Given the description of an element on the screen output the (x, y) to click on. 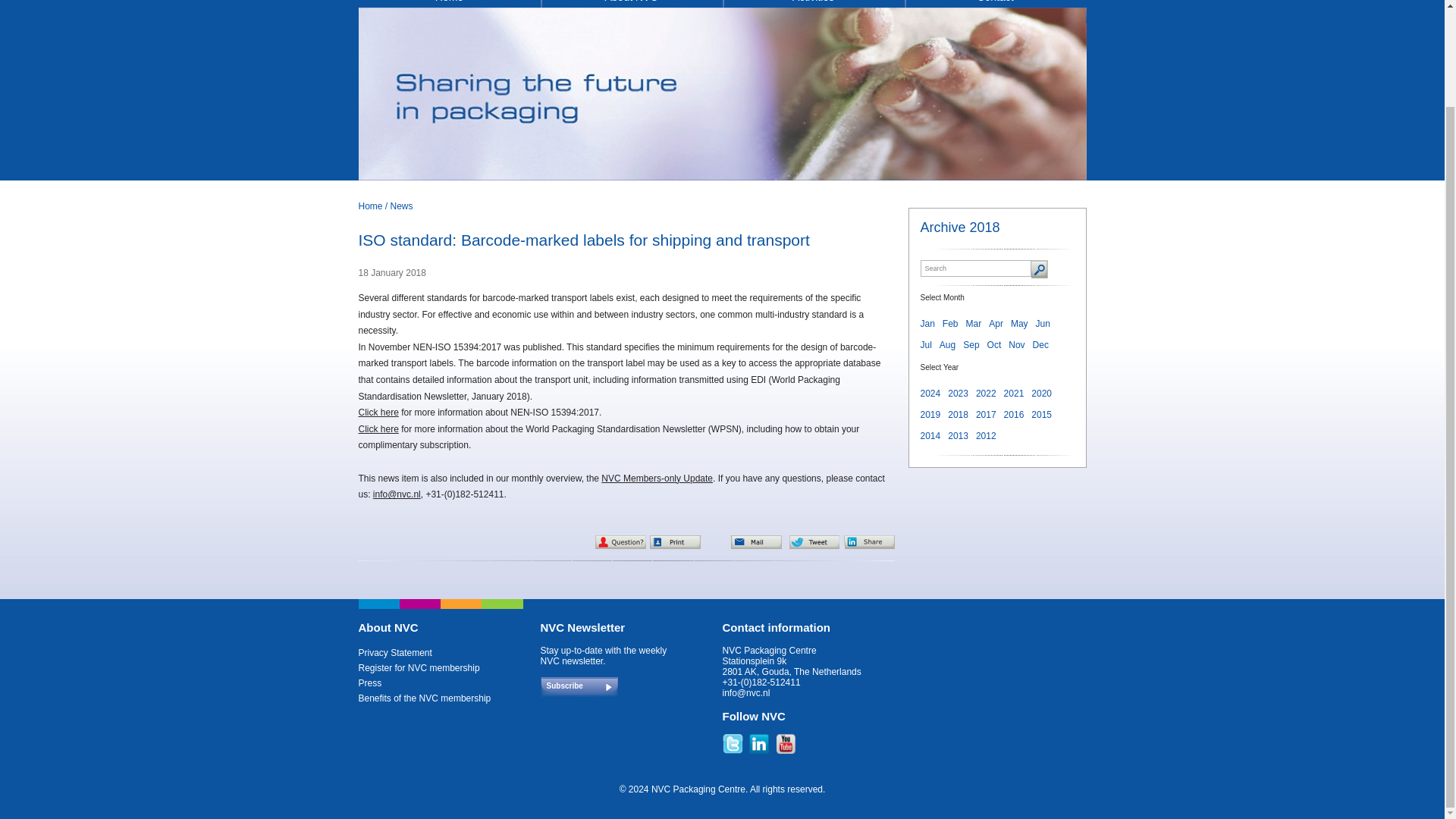
Jul (925, 344)
News (401, 205)
Contact (995, 3)
Home (449, 3)
Activities (813, 3)
Aug (947, 344)
Home (369, 205)
Jun (1042, 323)
Apr (995, 323)
Jan (927, 323)
